Given the description of an element on the screen output the (x, y) to click on. 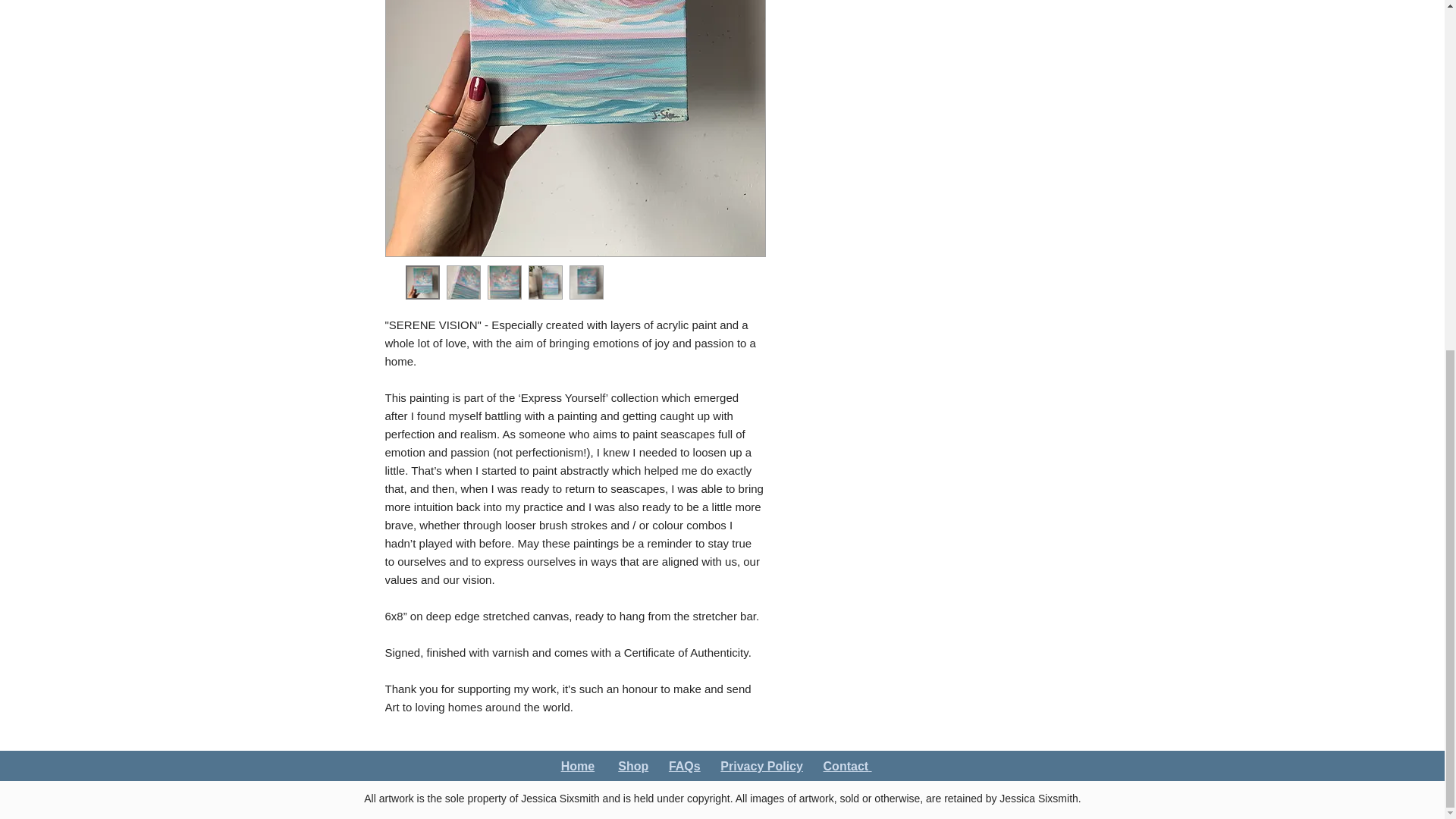
Contact (846, 766)
Home (577, 766)
FAQs (684, 766)
Privacy Policy (761, 766)
Shop (632, 766)
